Given the description of an element on the screen output the (x, y) to click on. 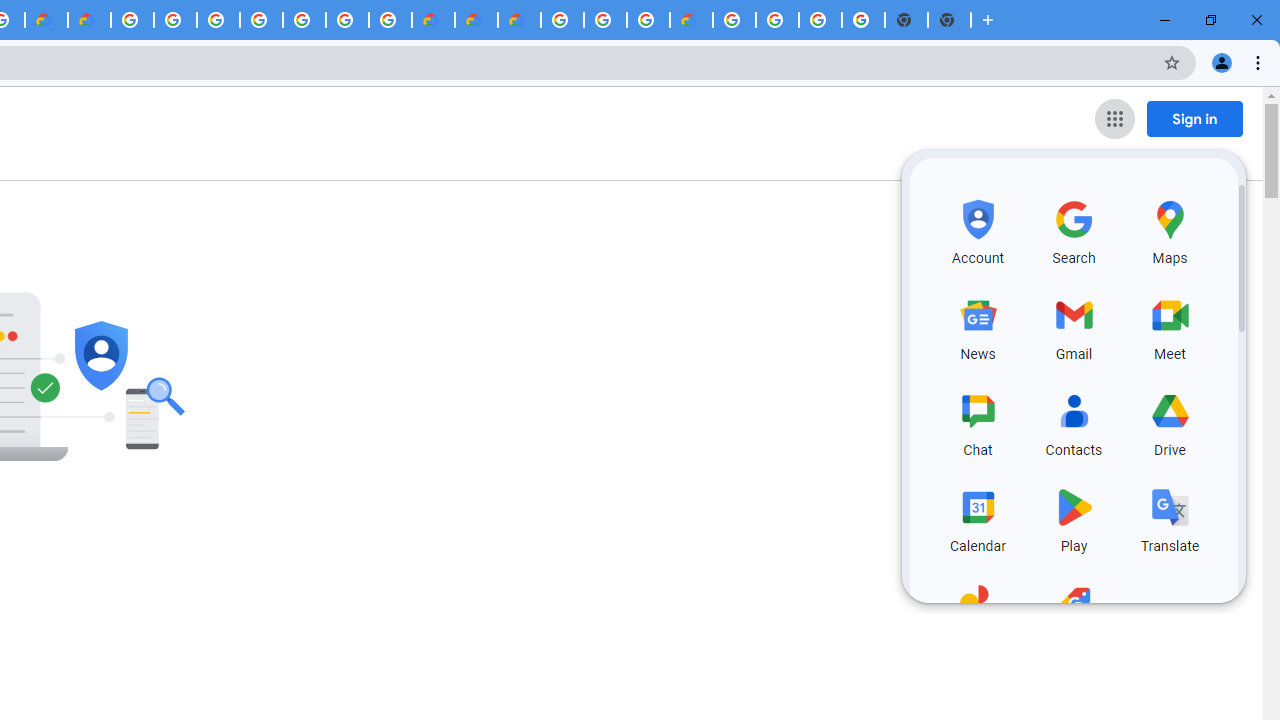
Sign in (1194, 118)
You (1221, 62)
Google Cloud Platform (777, 20)
Chrome (1260, 62)
Google Cloud Pricing Calculator (475, 20)
